Given the description of an element on the screen output the (x, y) to click on. 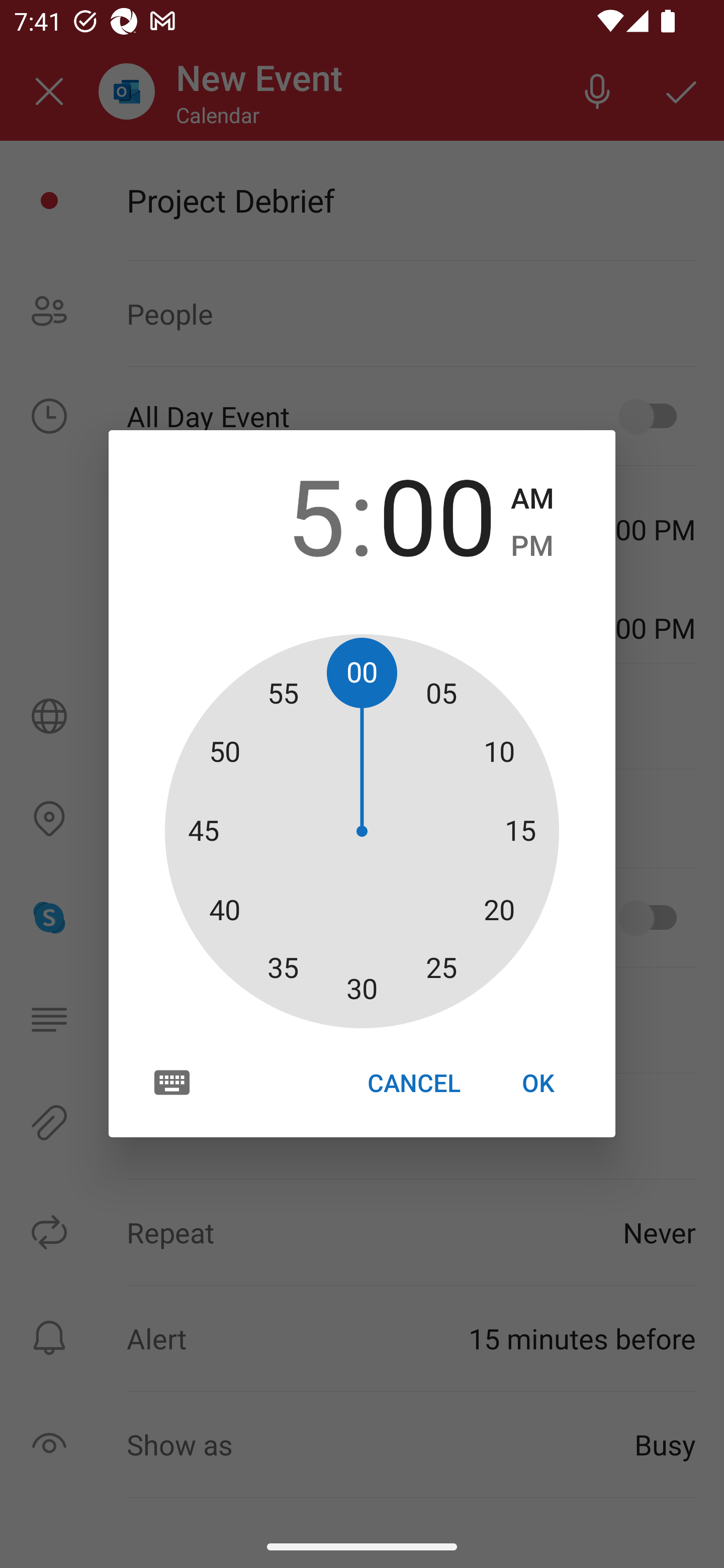
5 (285, 513)
00 (436, 513)
AM (532, 498)
PM (532, 546)
CANCEL (413, 1082)
OK (537, 1082)
Switch to text input mode for the time input. (171, 1081)
